Given the description of an element on the screen output the (x, y) to click on. 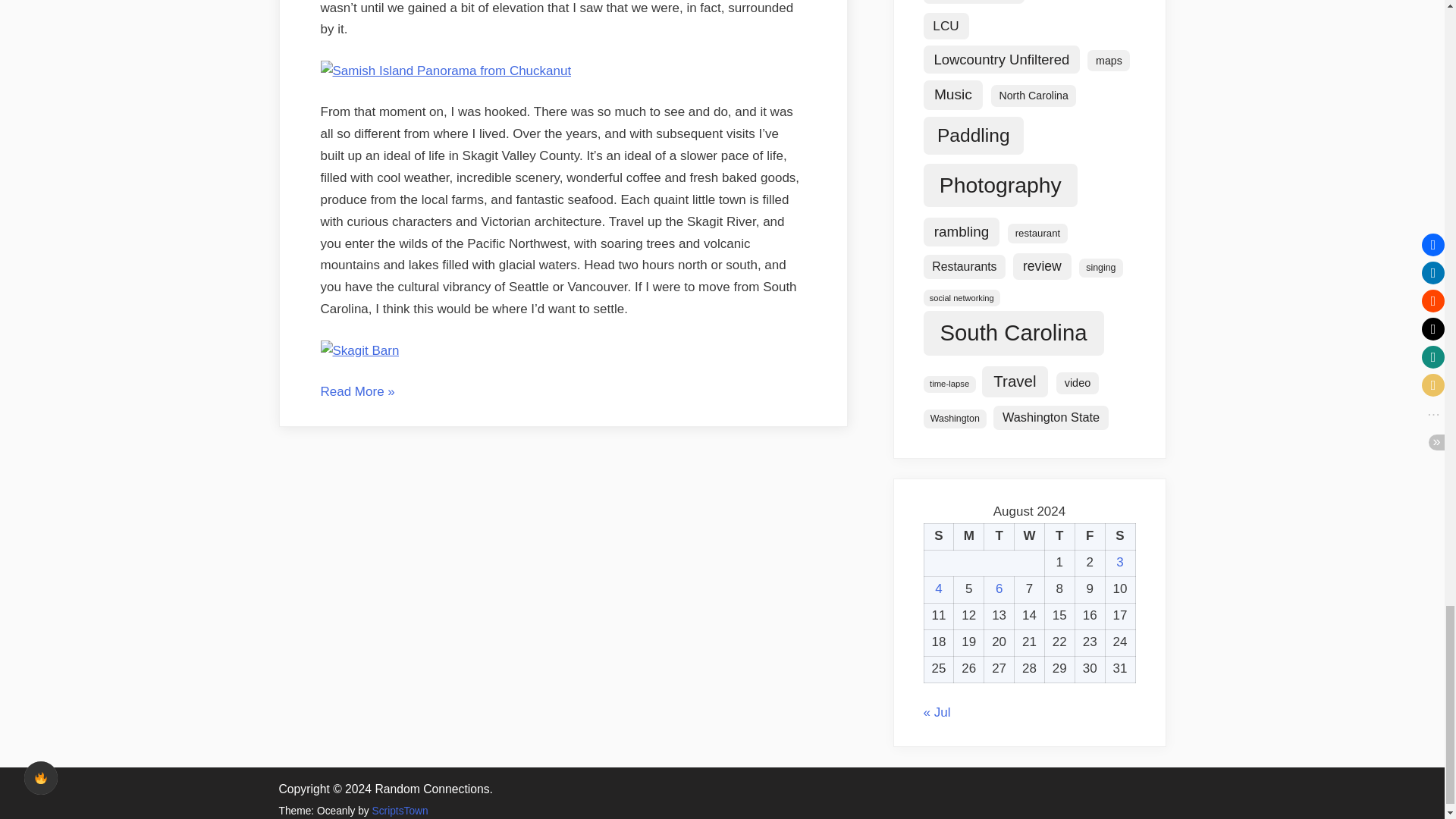
Friday (1089, 536)
Thursday (1058, 536)
Wednesday (1029, 536)
Tuesday (999, 536)
Monday (968, 536)
Saturday (1120, 536)
Sunday (938, 536)
Skagit Barn by RandomConnections, on Flickr (359, 350)
